Given the description of an element on the screen output the (x, y) to click on. 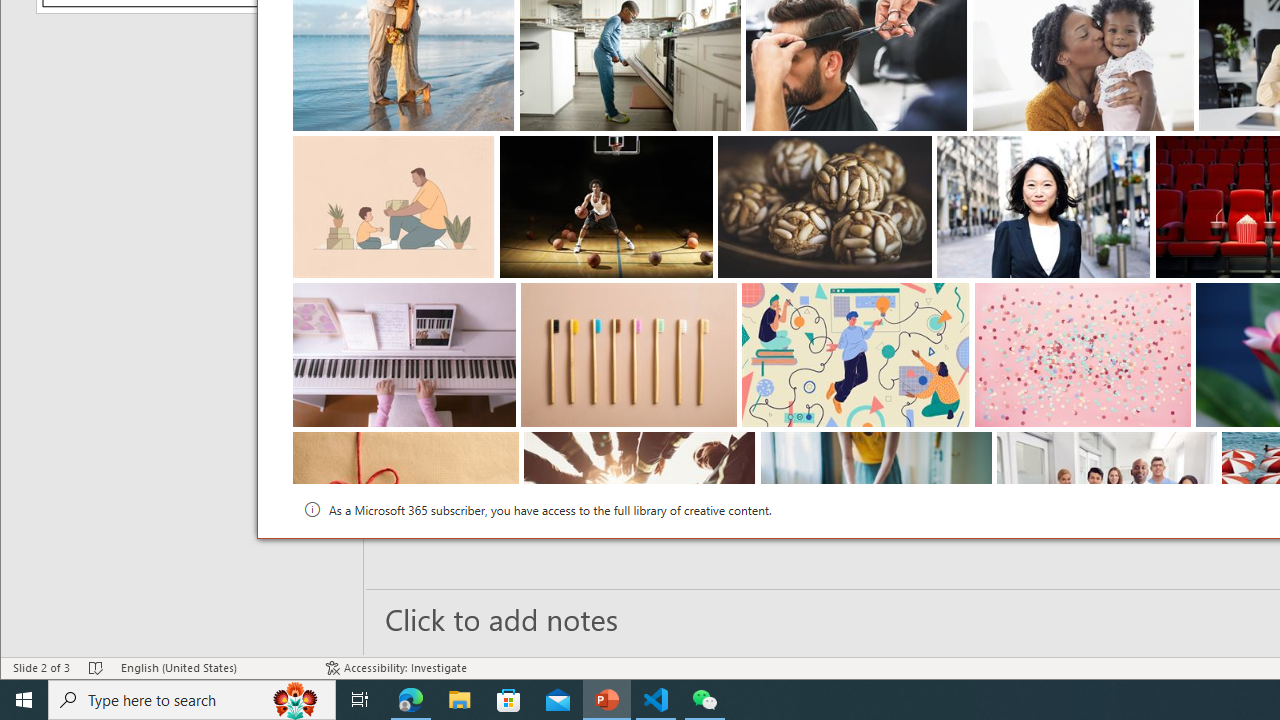
Microsoft Edge - 1 running window (411, 699)
